Given the description of an element on the screen output the (x, y) to click on. 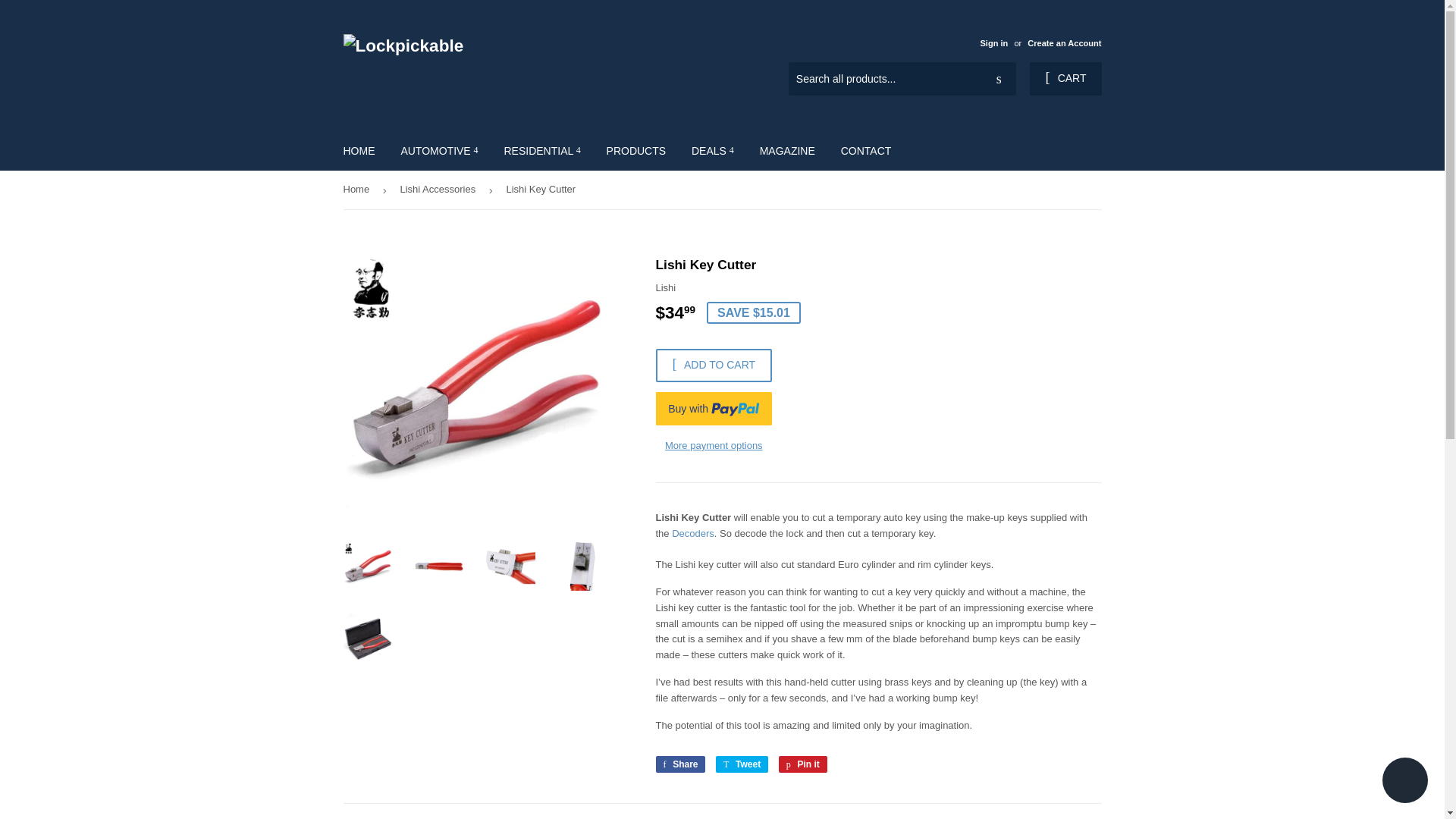
Sign in (993, 42)
Shopify online store chat (1404, 781)
Create an Account (1063, 42)
Search (998, 79)
Pin on Pinterest (802, 764)
Share on Facebook (679, 764)
Tweet on Twitter (742, 764)
CART (1064, 78)
Classic Lishi (692, 532)
